Given the description of an element on the screen output the (x, y) to click on. 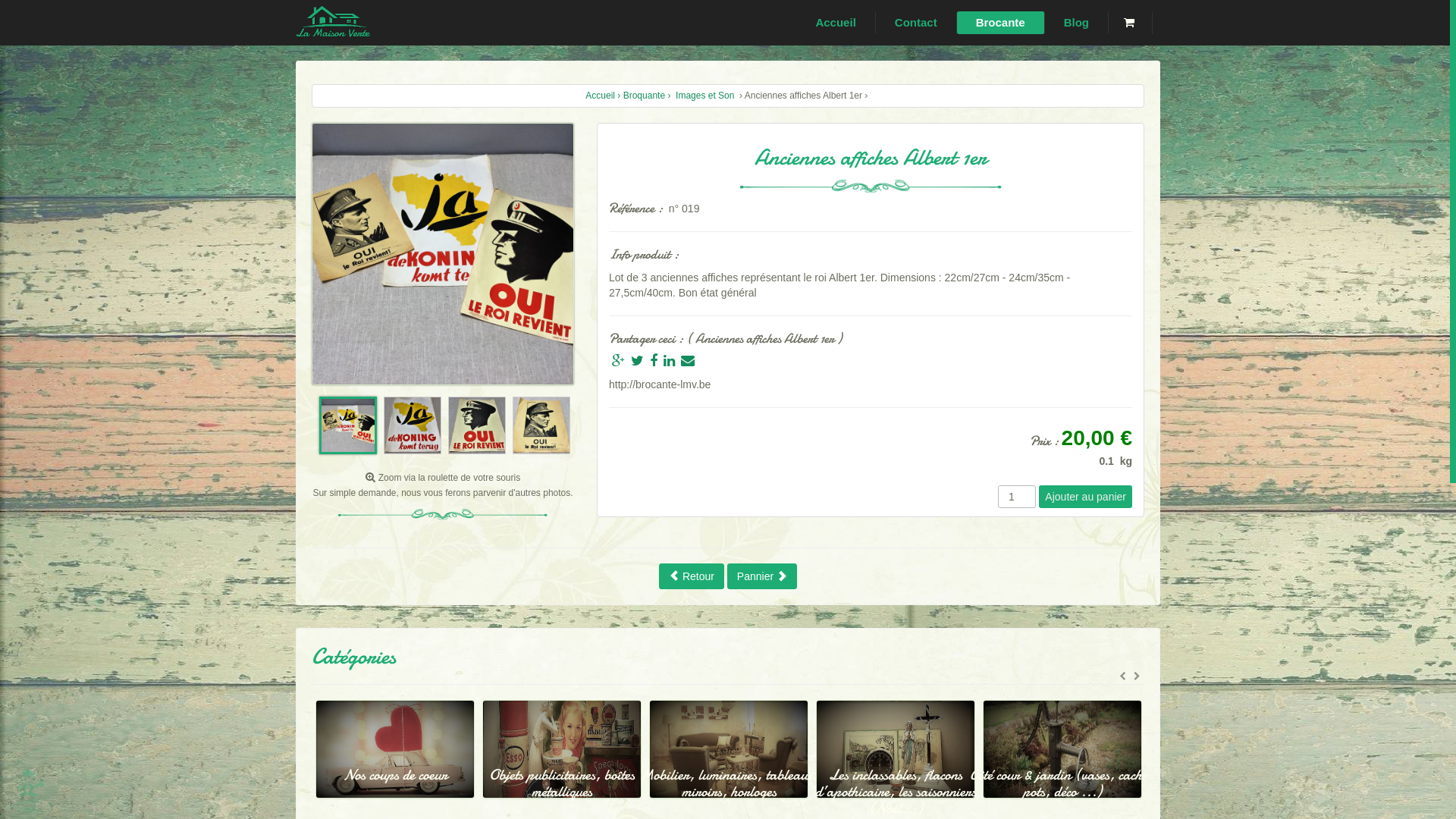
Image 2 Element type: hover (412, 425)
Retour Element type: text (691, 576)
Image 4 Element type: hover (541, 425)
Contact Element type: text (916, 22)
Envoyer par mail Element type: hover (687, 360)
Image 1 Element type: hover (347, 425)
Pannier Element type: text (762, 576)
Blog Element type: text (1076, 22)
Image 3 Element type: hover (476, 425)
Accueil Element type: text (835, 22)
Partager sur Facebook Element type: hover (653, 360)
Images et Son Element type: text (705, 95)
Nos coups de coeur Element type: text (561, 765)
Ajouter au panier Element type: text (1085, 496)
Mobilier, luminaires, tableaux, miroirs, horloges Element type: text (895, 774)
Partager sur Twitter Element type: hover (636, 360)
Partager sur Linkedin Element type: hover (668, 360)
Brocante Element type: text (1000, 22)
Partager sur Google + Element type: hover (617, 360)
